Given the description of an element on the screen output the (x, y) to click on. 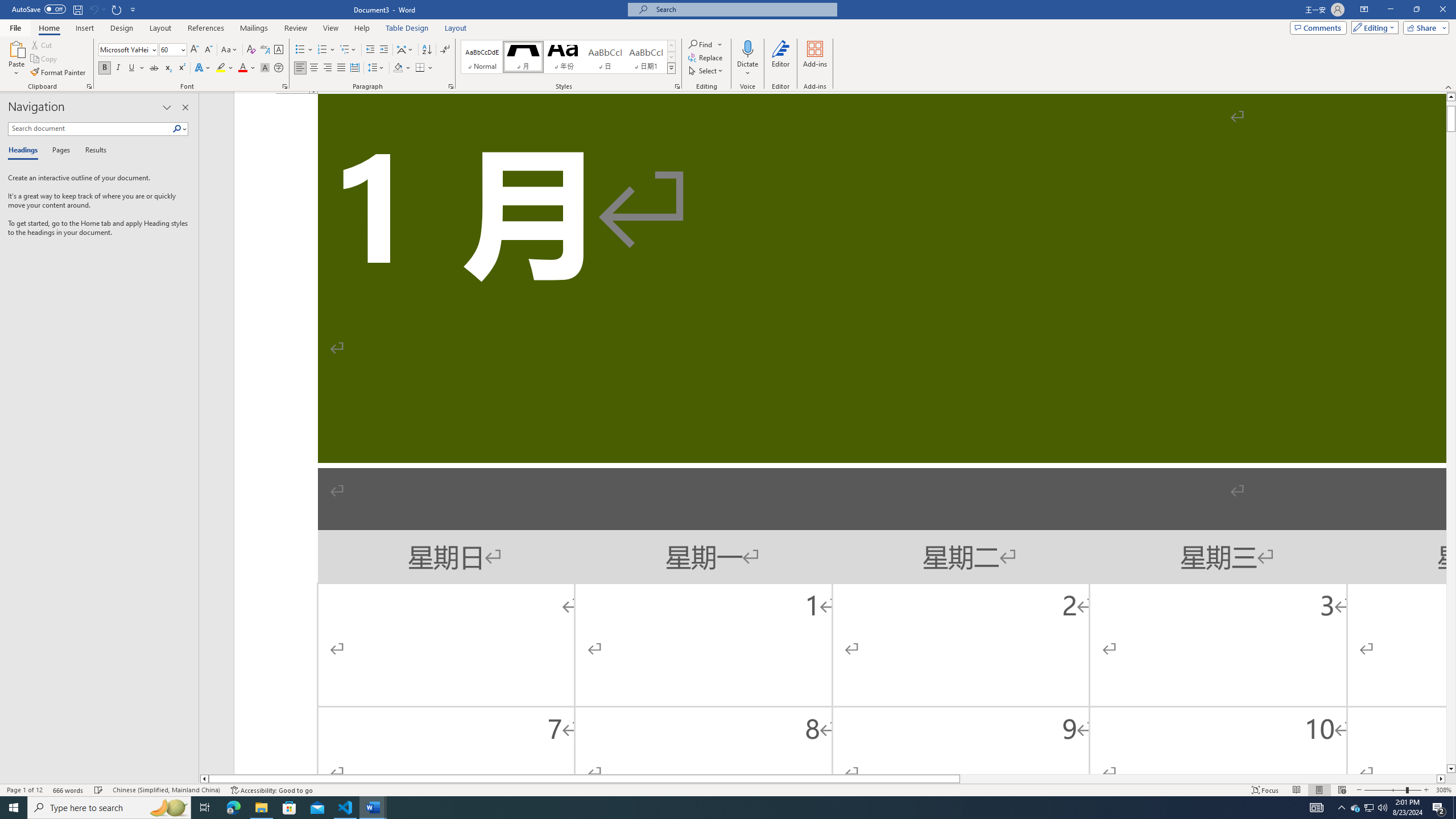
Font Color RGB(255, 0, 0) (241, 67)
Word Count 666 words (68, 790)
Page up (1450, 103)
